Given the description of an element on the screen output the (x, y) to click on. 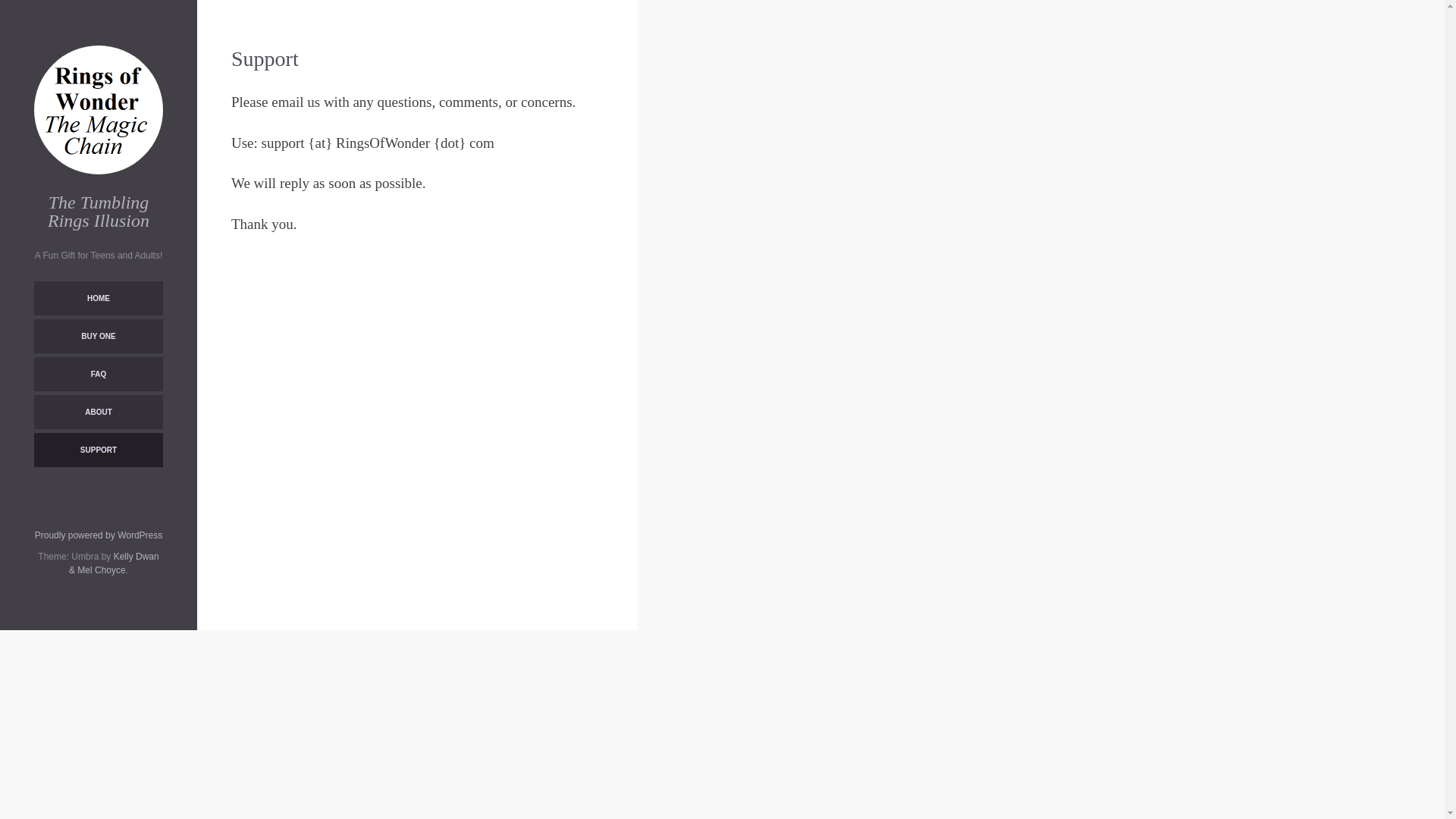
The Tumbling Rings Illusion (98, 211)
BUY ONE (98, 335)
Proudly powered by WordPress (98, 534)
SUPPORT (98, 449)
ABOUT (98, 411)
HOME (98, 298)
FAQ (98, 374)
